Given the description of an element on the screen output the (x, y) to click on. 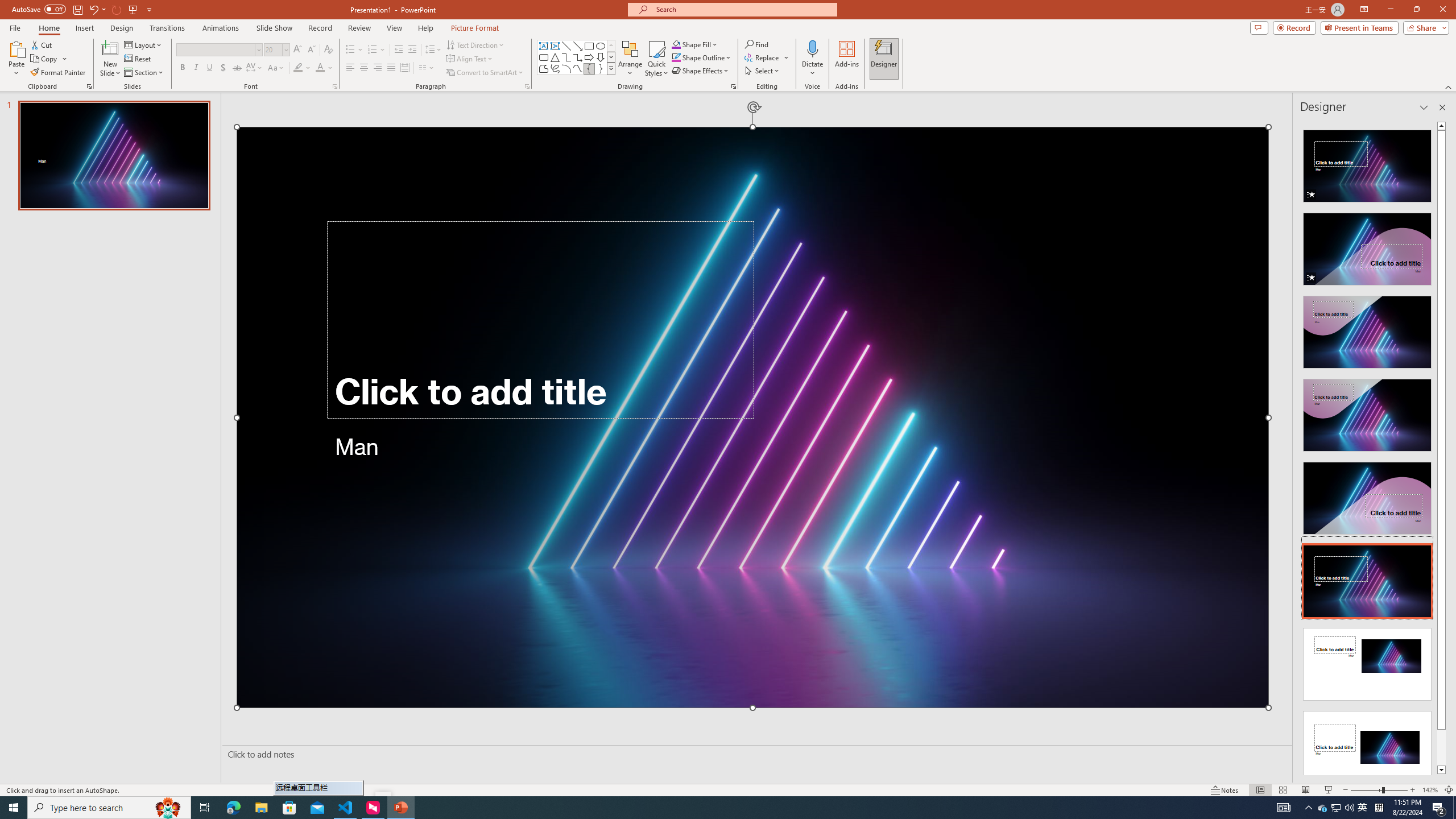
Design Idea with Animation (1366, 245)
